Given the description of an element on the screen output the (x, y) to click on. 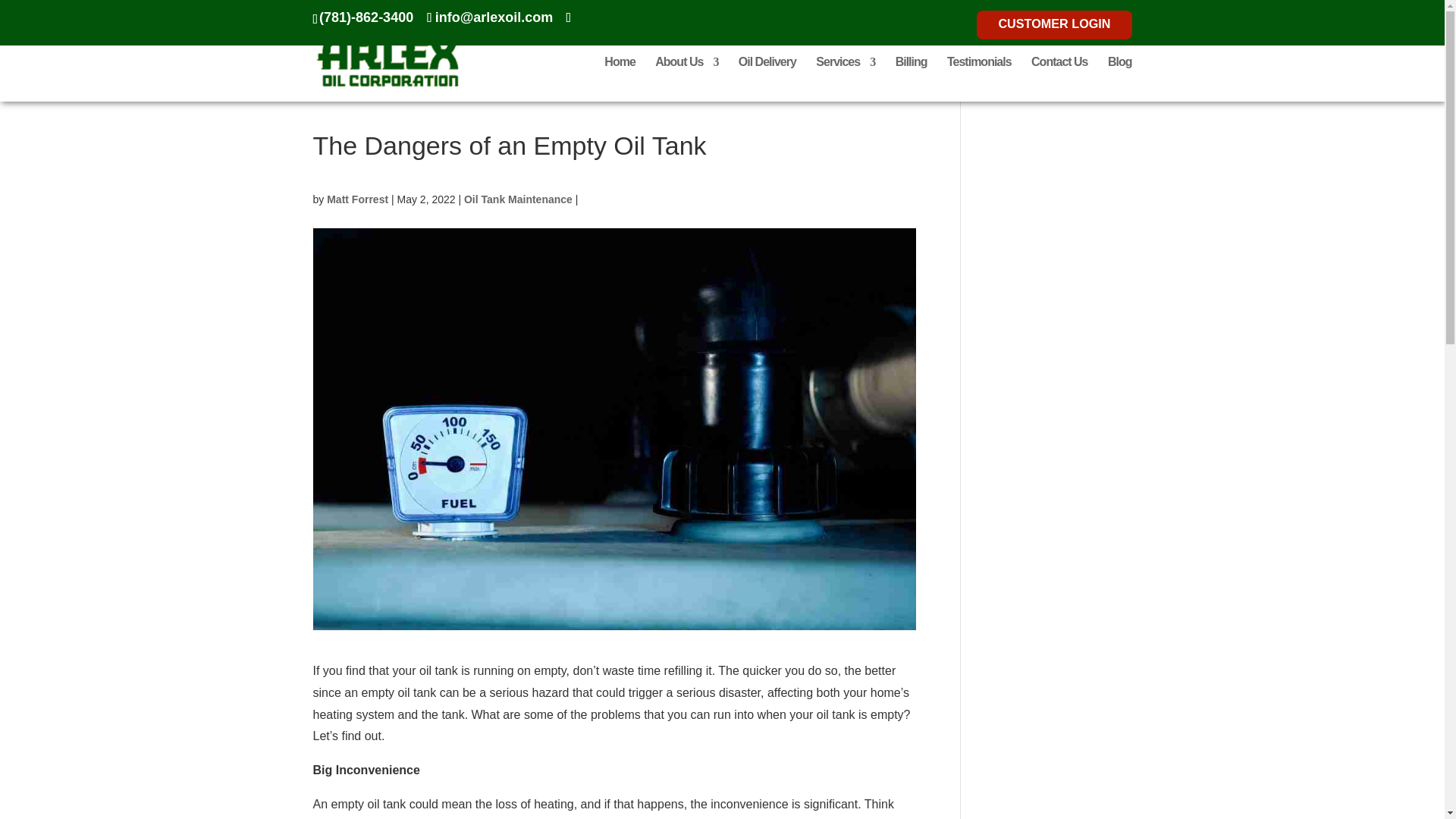
Services (845, 78)
Testimonials (979, 78)
Oil Tank Maintenance (518, 199)
Oil Delivery (767, 78)
Matt Forrest (357, 199)
CUSTOMER LOGIN (1053, 27)
About Us (686, 78)
Posts by Matt Forrest (357, 199)
Contact Us (1058, 78)
